Given the description of an element on the screen output the (x, y) to click on. 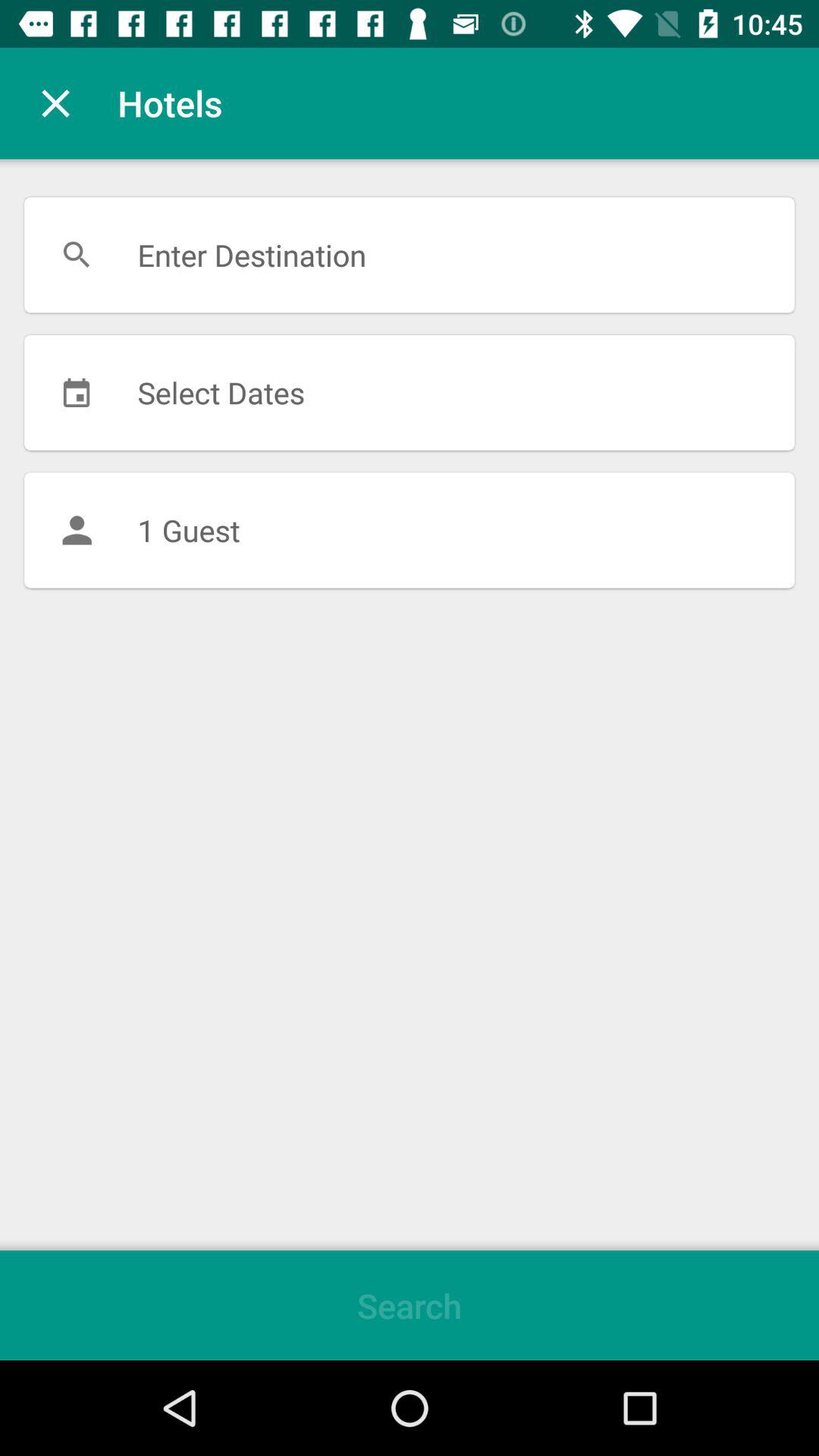
turn on the item below enter destination (409, 392)
